Given the description of an element on the screen output the (x, y) to click on. 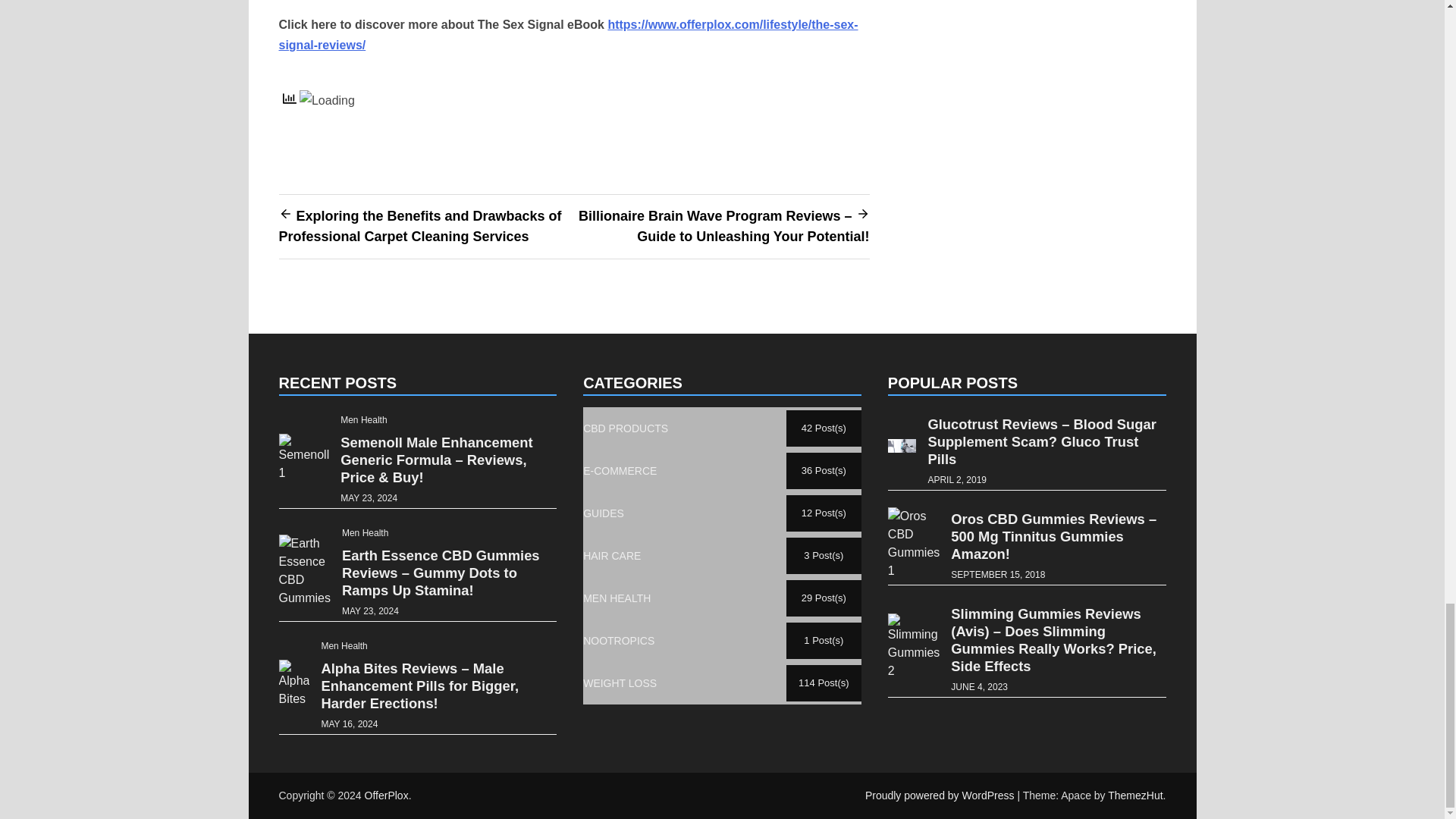
OfferPlox (387, 795)
